Given the description of an element on the screen output the (x, y) to click on. 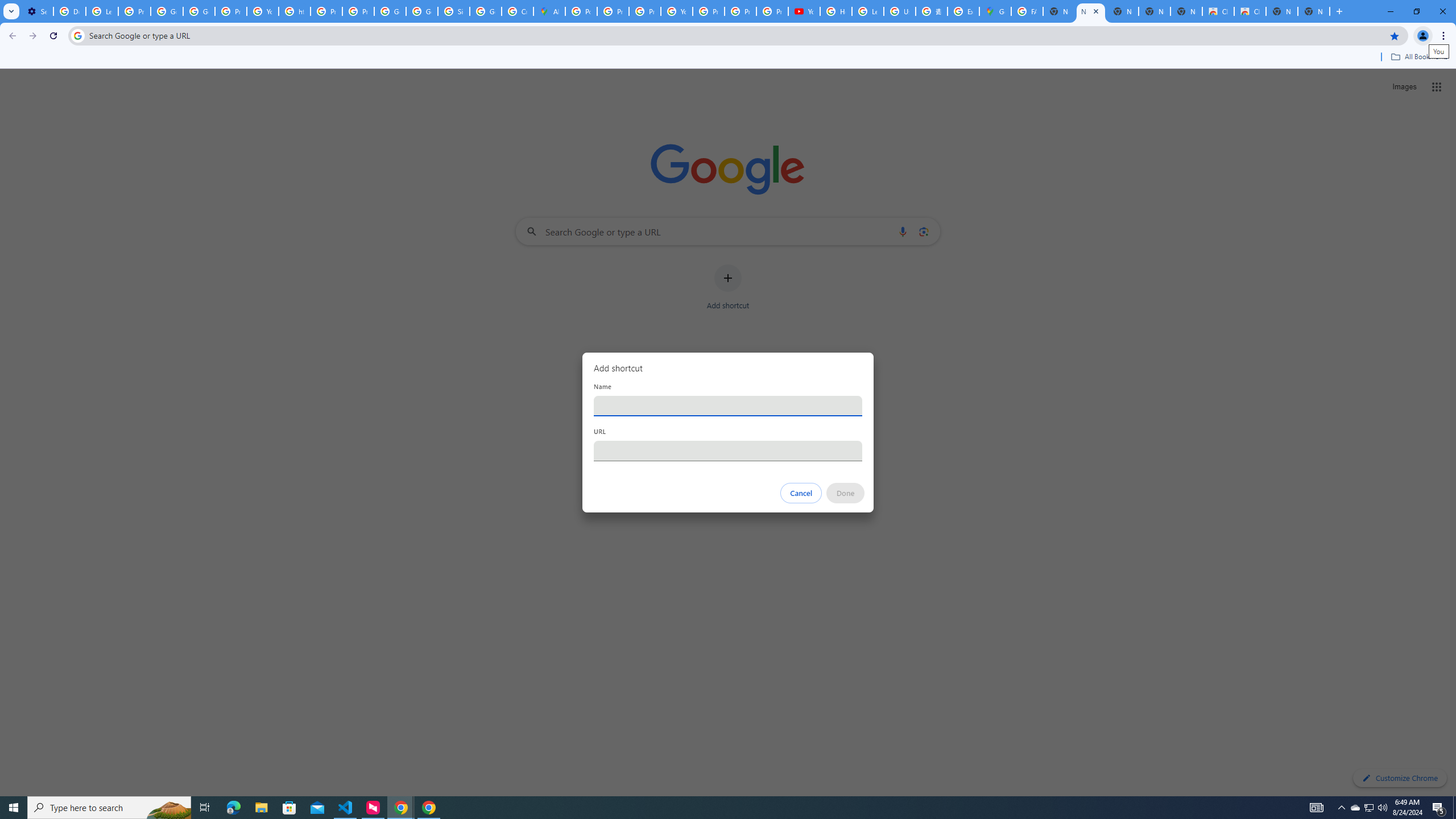
Privacy Help Center - Policies Help (613, 11)
Privacy Help Center - Policies Help (644, 11)
YouTube (676, 11)
Privacy Checkup (740, 11)
YouTube (804, 11)
